Given the description of an element on the screen output the (x, y) to click on. 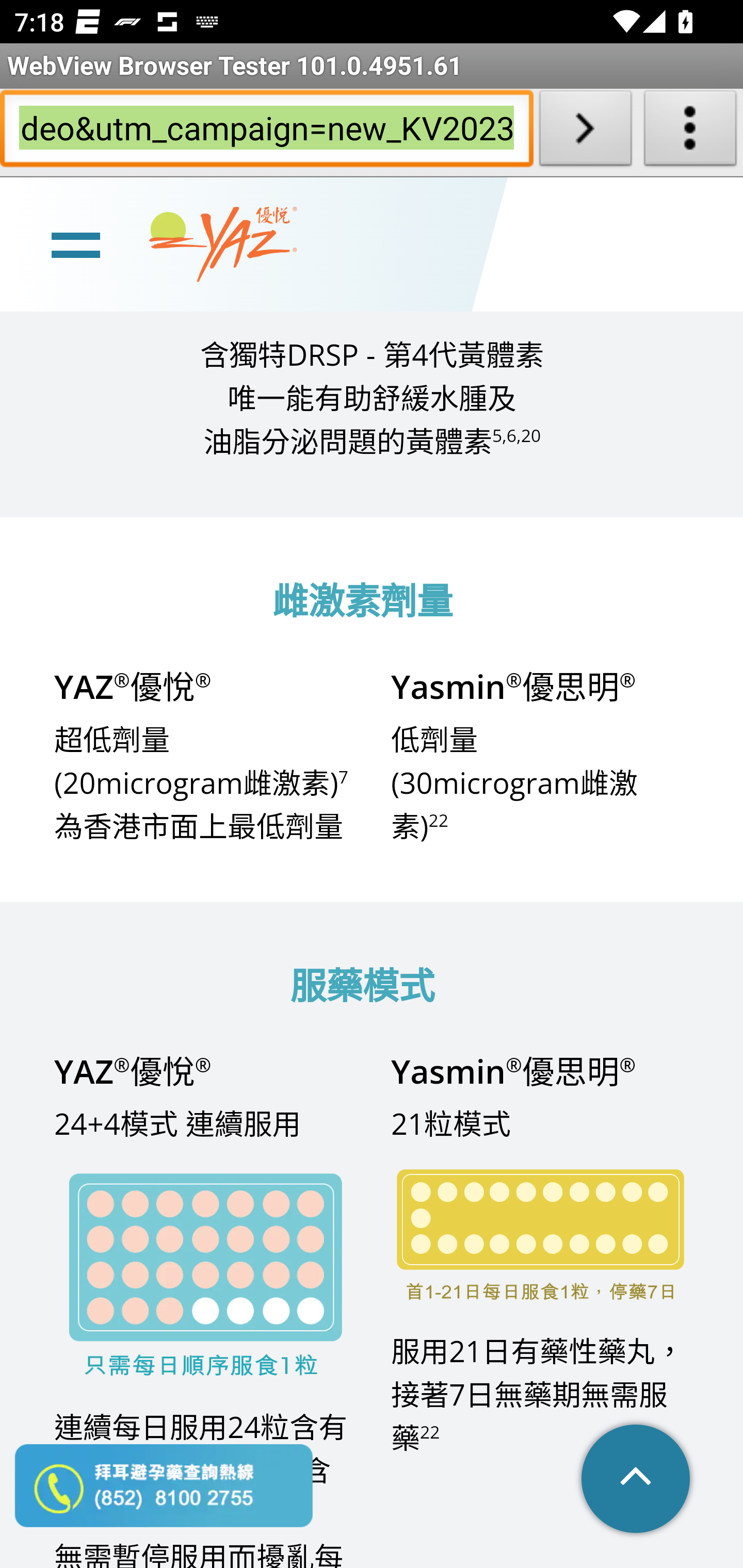
Load URL (585, 132)
About WebView (690, 132)
www.yaz (222, 244)
line Toggle burger menu (75, 242)
 (636, 1480)
